Given the description of an element on the screen output the (x, y) to click on. 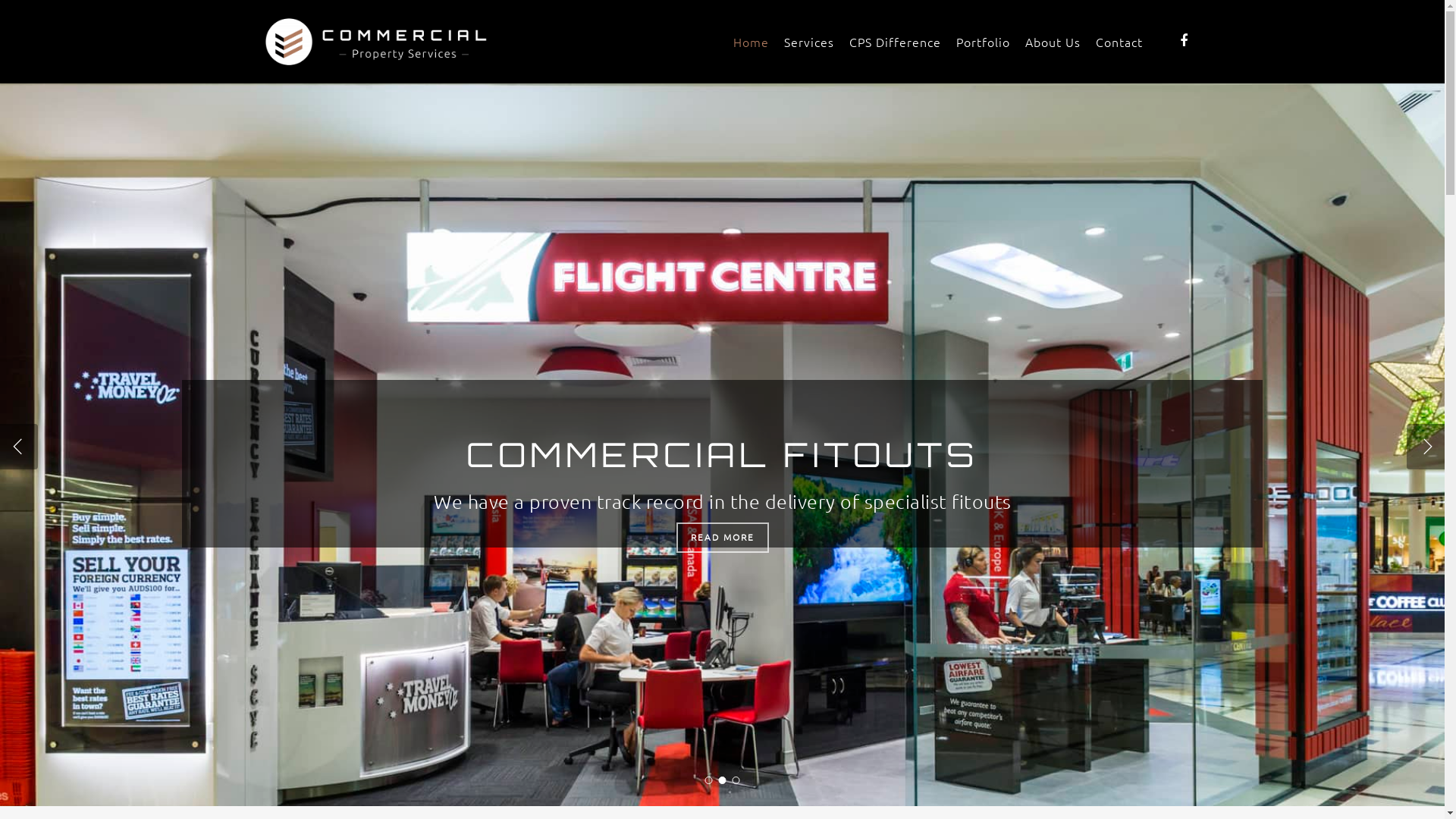
About Us Element type: text (1052, 40)
Portfolio Element type: text (982, 40)
Contact Element type: text (1119, 40)
CPS Difference Element type: text (894, 40)
READ MORE Element type: text (805, 537)
Home Element type: text (750, 40)
Services Element type: text (808, 40)
